Given the description of an element on the screen output the (x, y) to click on. 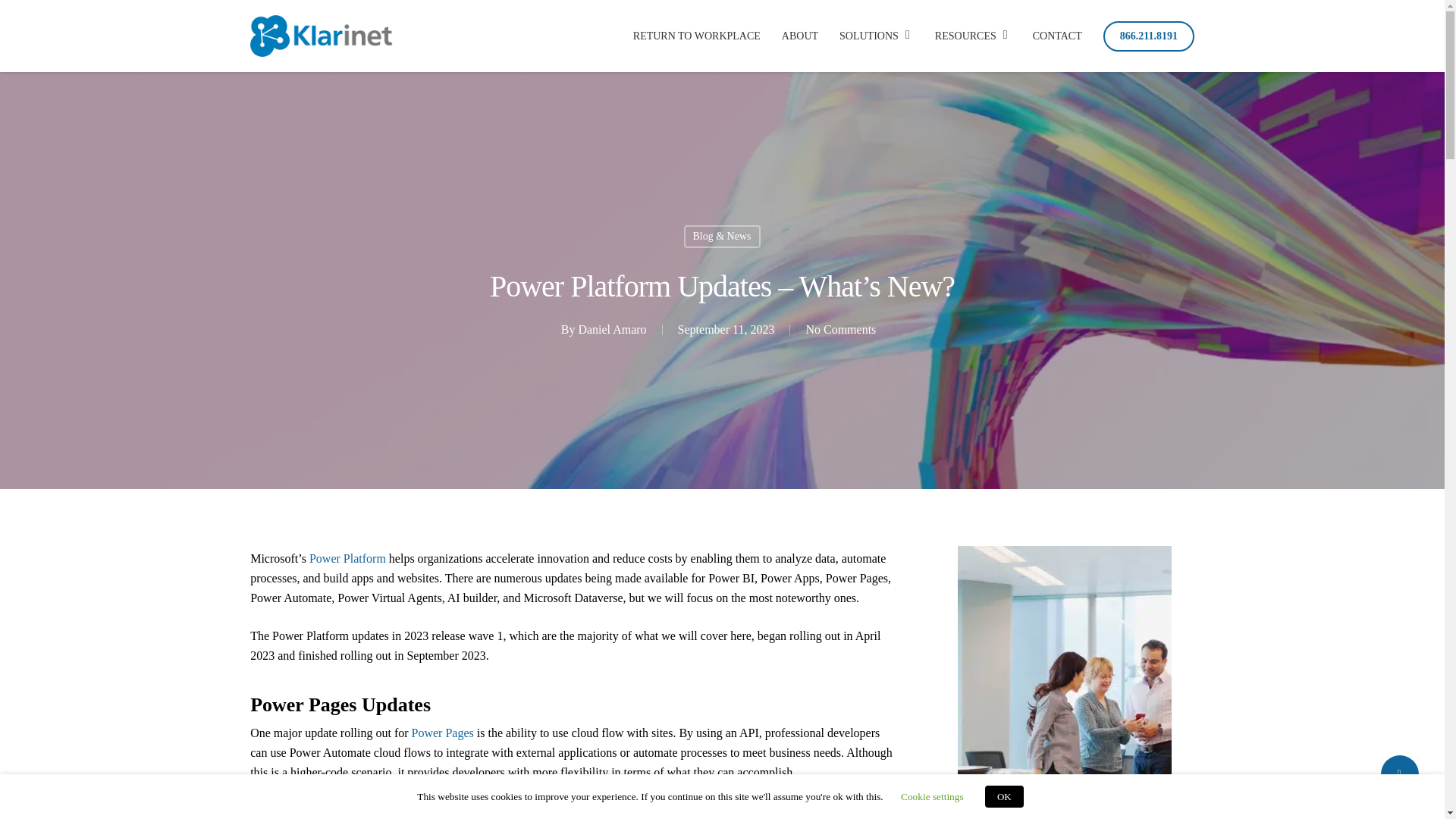
Power Pages (443, 732)
Posts by Daniel Amaro (612, 328)
866.211.8191 (1148, 36)
CONTACT (1056, 36)
ABOUT (799, 36)
No Comments (840, 328)
Power Platform: Power Apps and Power Automate (346, 558)
SOLUTIONS (877, 36)
RETURN TO WORKPLACE (696, 36)
Power Platform (346, 558)
